Given the description of an element on the screen output the (x, y) to click on. 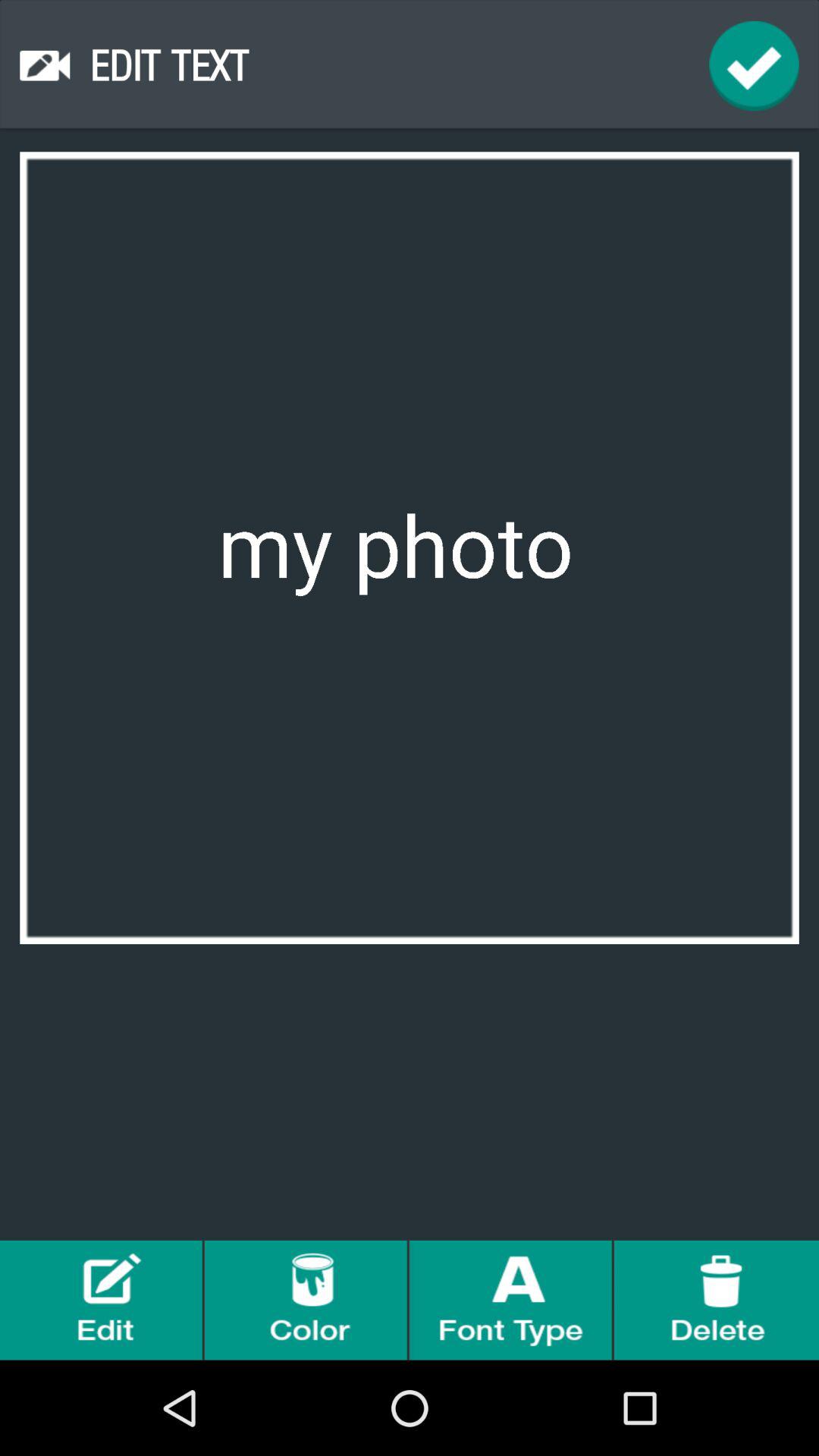
edit photo (102, 1299)
